Given the description of an element on the screen output the (x, y) to click on. 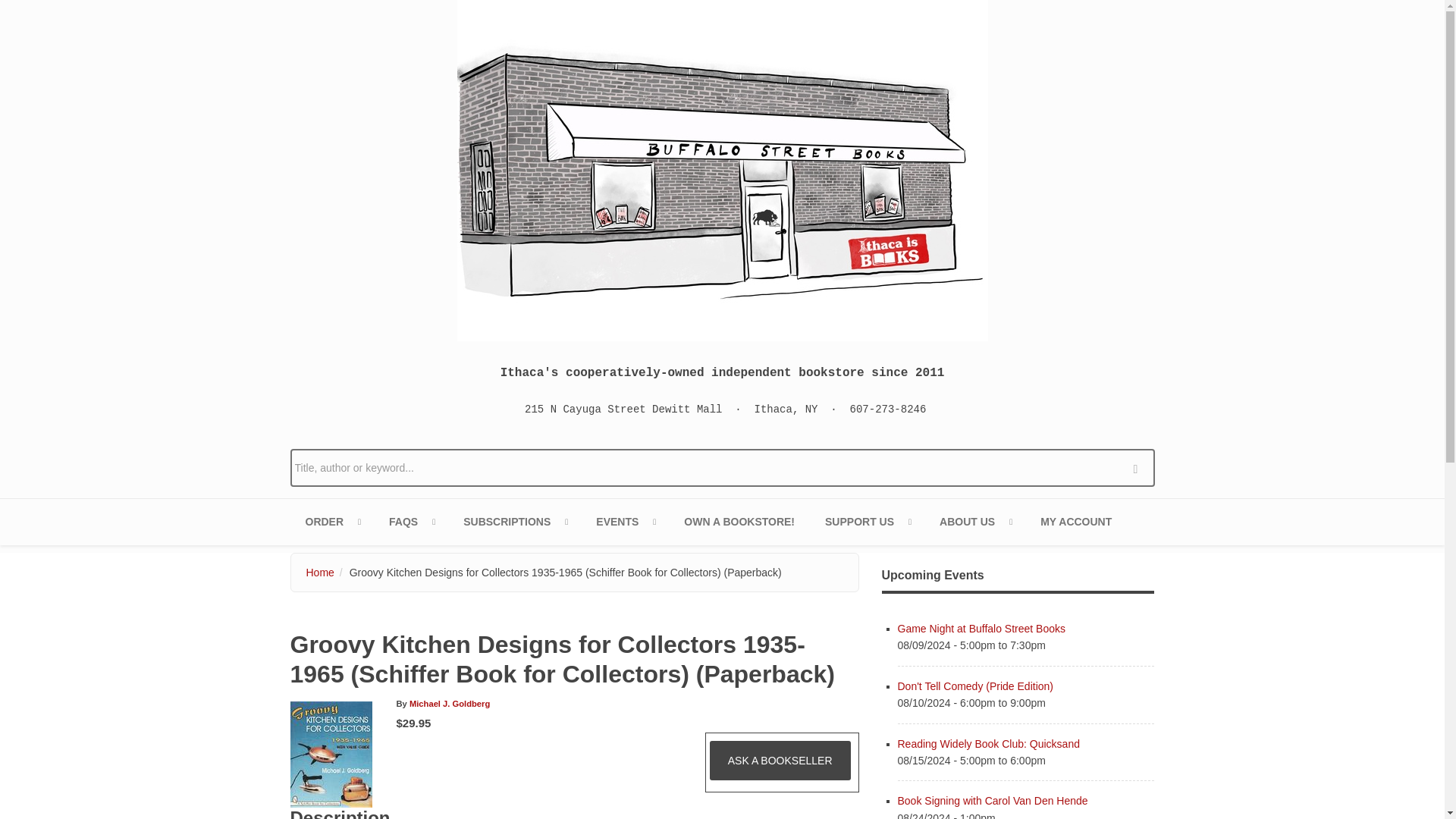
SUPPORT US (866, 521)
Title, author or keyword... (721, 467)
OWN A BOOKSTORE! (738, 521)
Ask a Bookseller (780, 760)
EVENTS (624, 521)
BSB First (514, 521)
Home (722, 169)
ORDER (331, 521)
SUBSCRIPTIONS (514, 521)
